Given the description of an element on the screen output the (x, y) to click on. 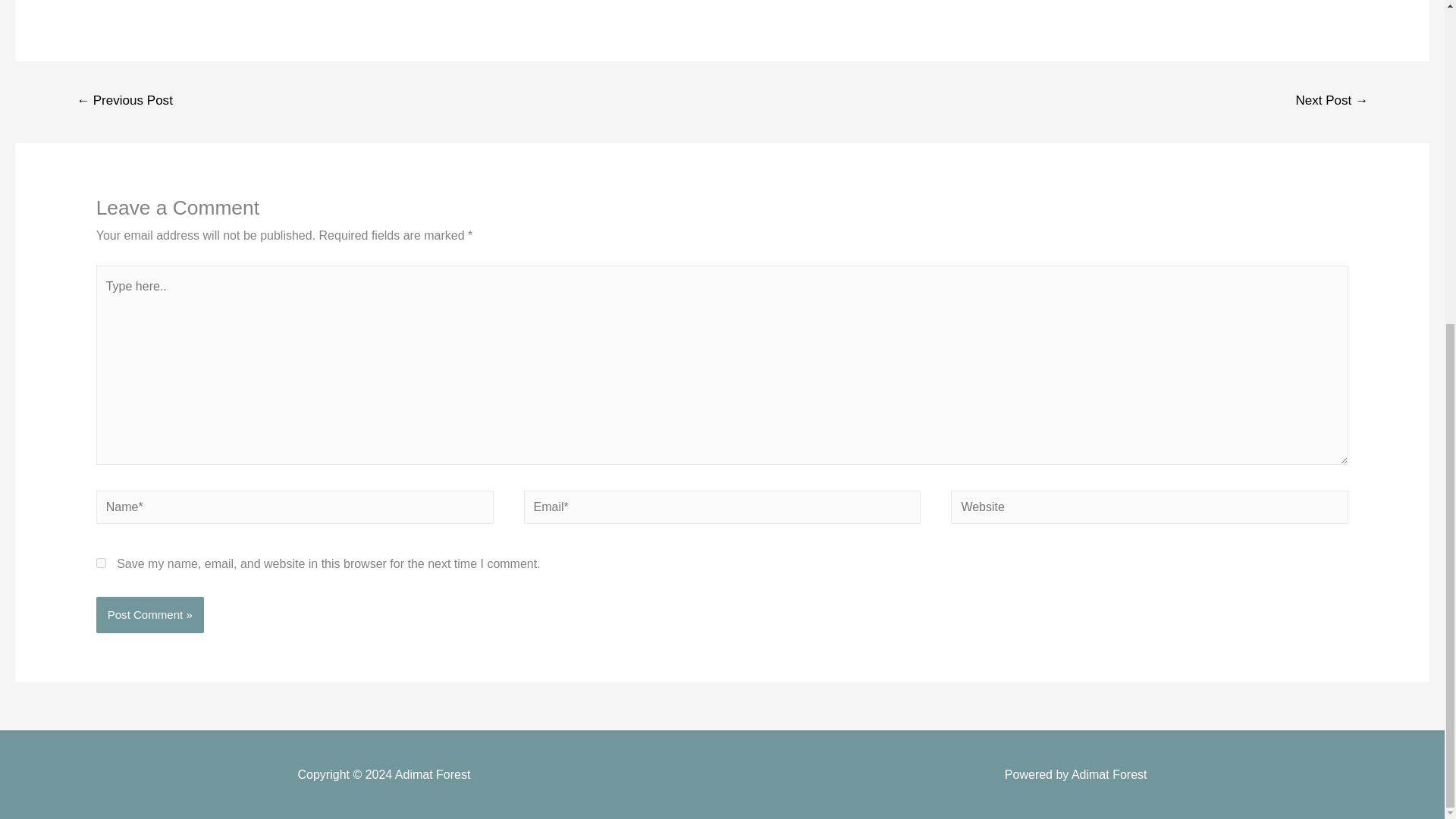
yes (101, 562)
